Given the description of an element on the screen output the (x, y) to click on. 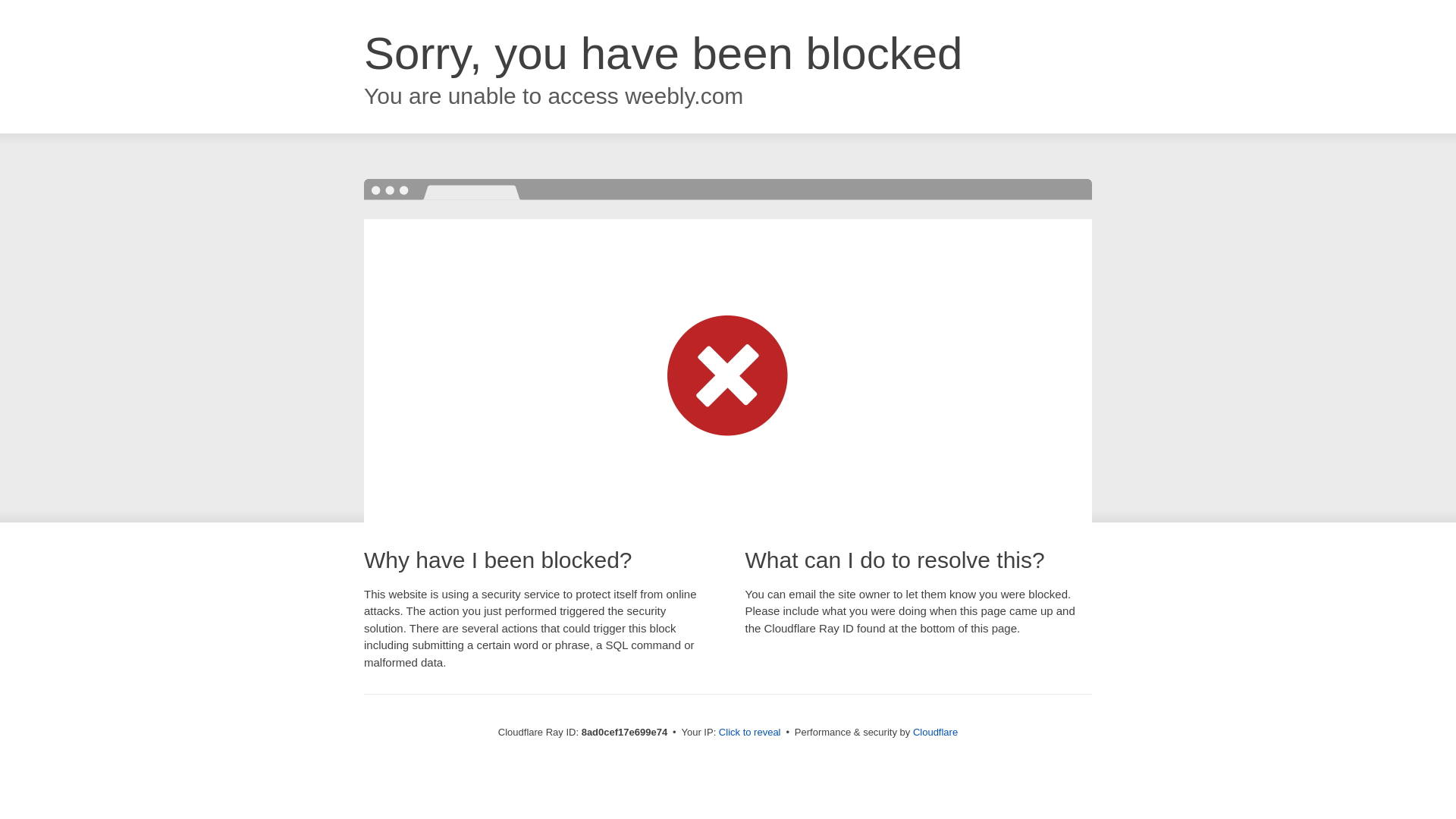
Cloudflare (935, 731)
Click to reveal (749, 732)
